Given the description of an element on the screen output the (x, y) to click on. 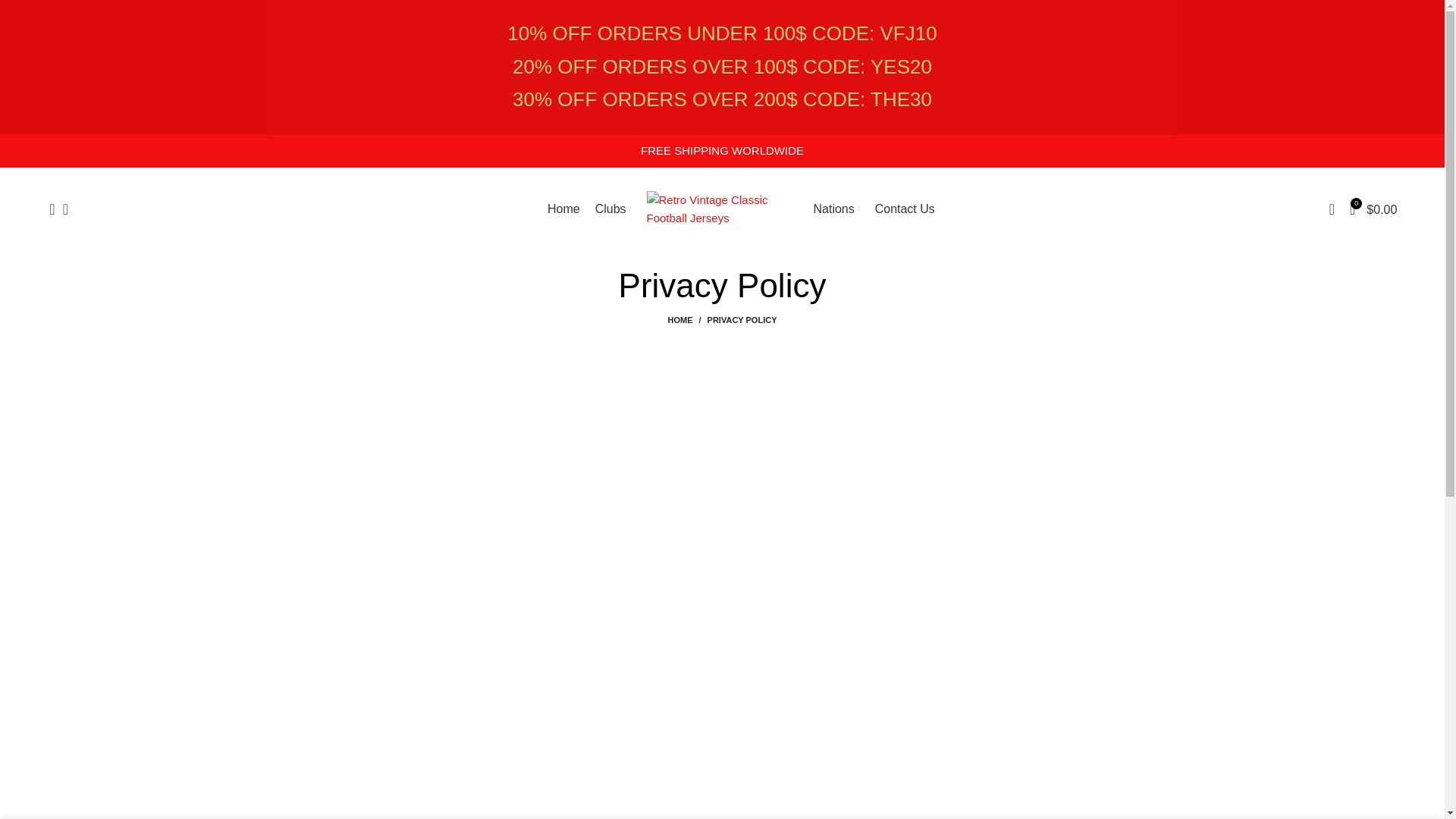
Home (563, 209)
Clubs (613, 209)
Shopping cart (1373, 209)
